Given the description of an element on the screen output the (x, y) to click on. 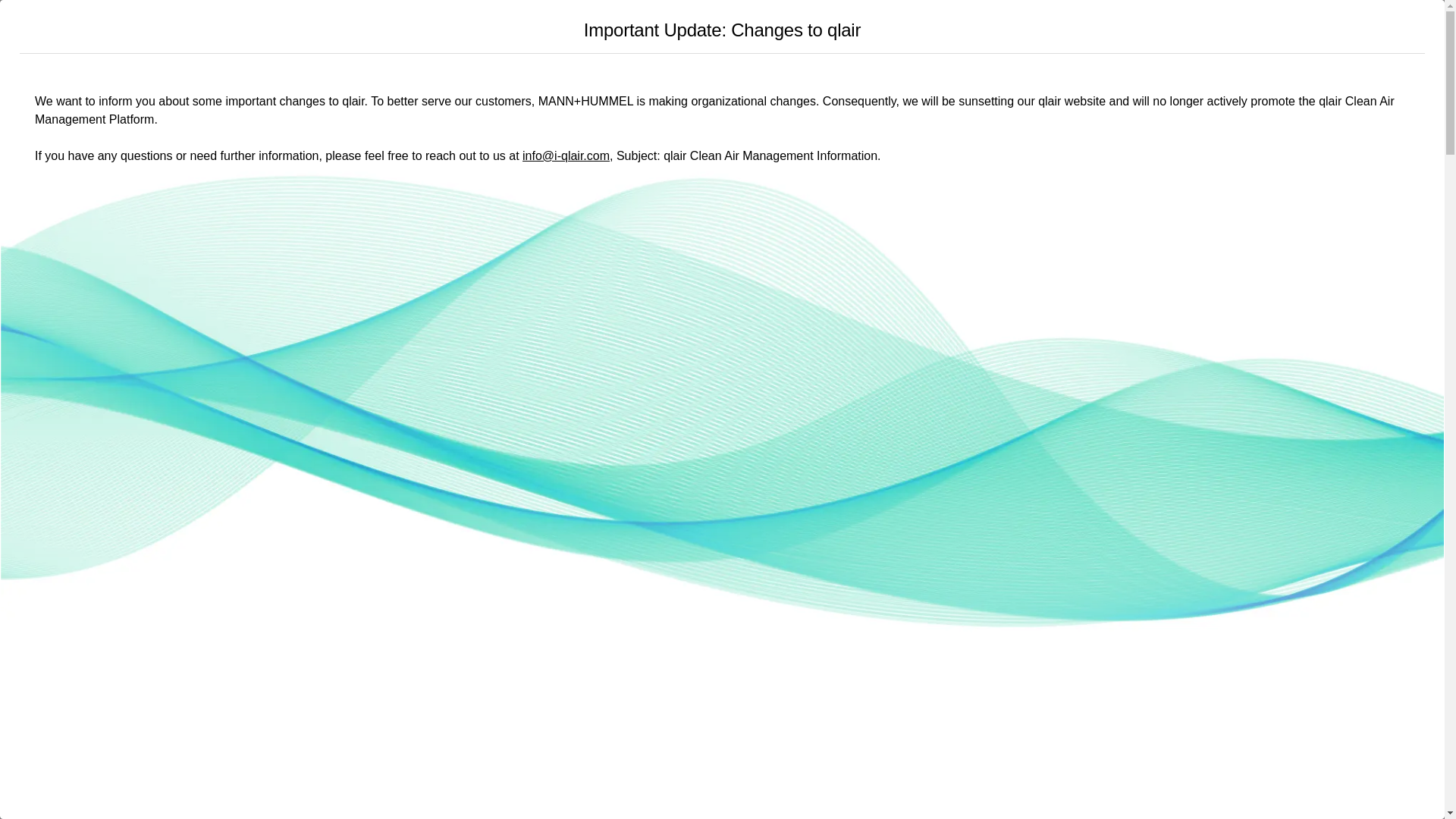
Partners (817, 33)
Why qlair? (527, 33)
Solutions (666, 33)
Take a Product Tour (919, 35)
Resources (743, 33)
Login (1013, 33)
System (598, 33)
EN (1058, 33)
Get a Demo (167, 438)
English (1058, 33)
